Given the description of an element on the screen output the (x, y) to click on. 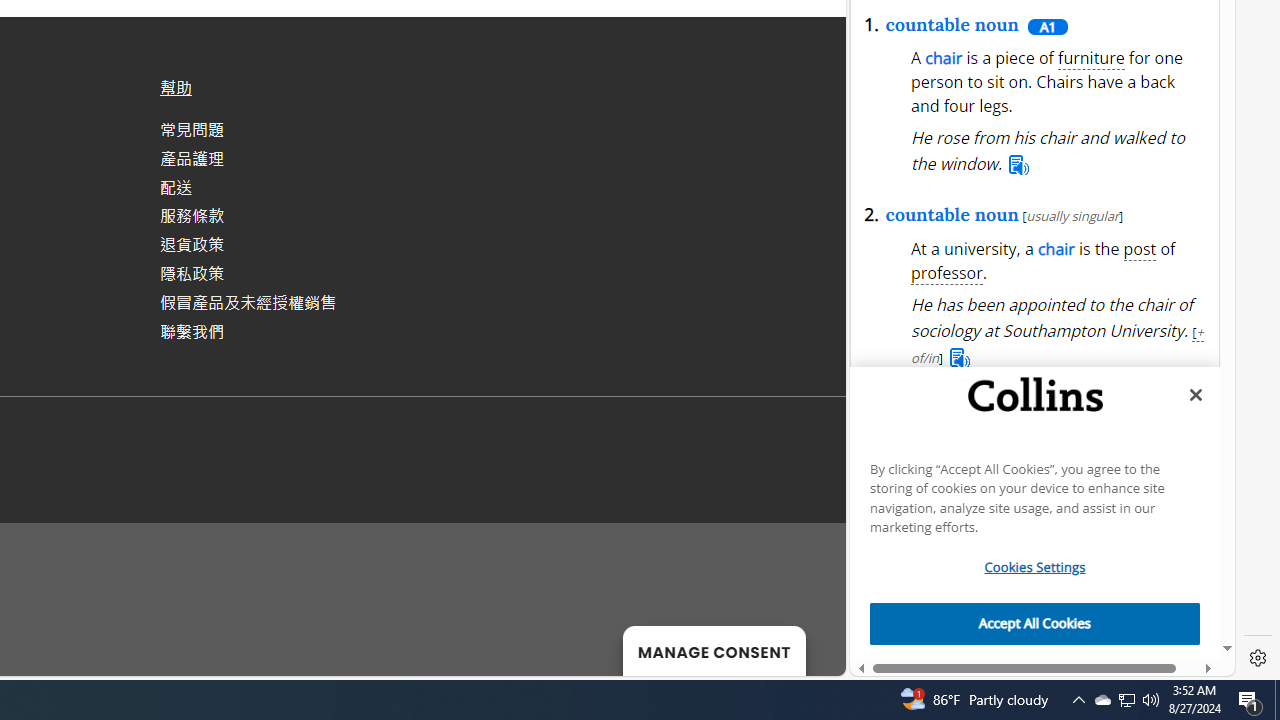
moderate (980, 125)
Open (1027, 230)
professor (947, 273)
Accept All Cookies (1035, 624)
Link for logging (1072, 285)
lead (1047, 125)
Translate chair to Choose language (1066, 285)
